Given the description of an element on the screen output the (x, y) to click on. 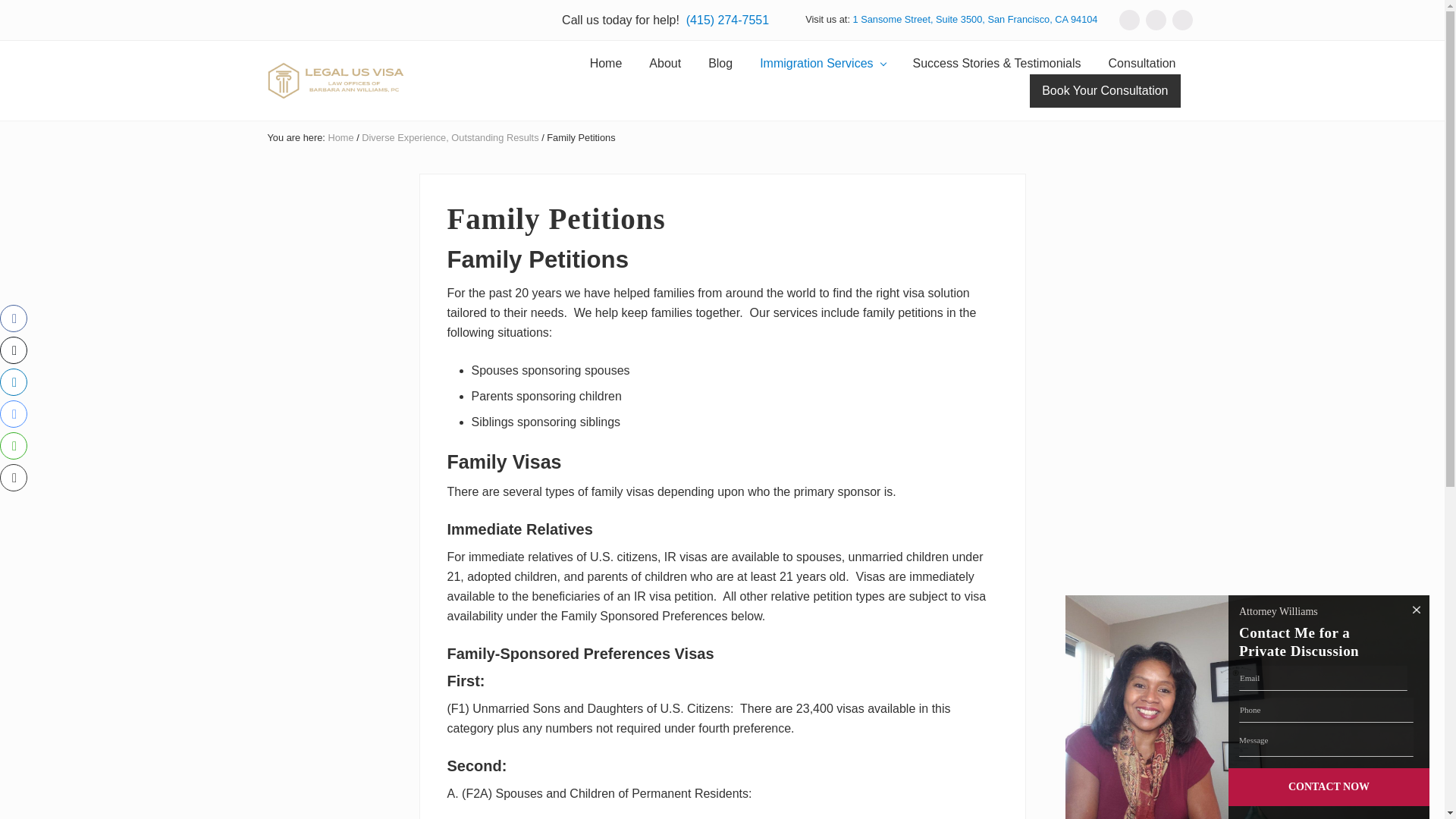
Blog (719, 63)
Consultation (1142, 63)
Twitter (1182, 19)
Bloglovin (1129, 19)
Book Your Consultation (1104, 90)
Home (606, 63)
Immigration Services (822, 63)
Bloglovin (1129, 19)
Facebook (1155, 19)
1 Sansome Street, Suite 3500, San Francisco, CA 94104 (975, 19)
Twitter (1182, 19)
Facebook (1155, 19)
About (665, 63)
